Given the description of an element on the screen output the (x, y) to click on. 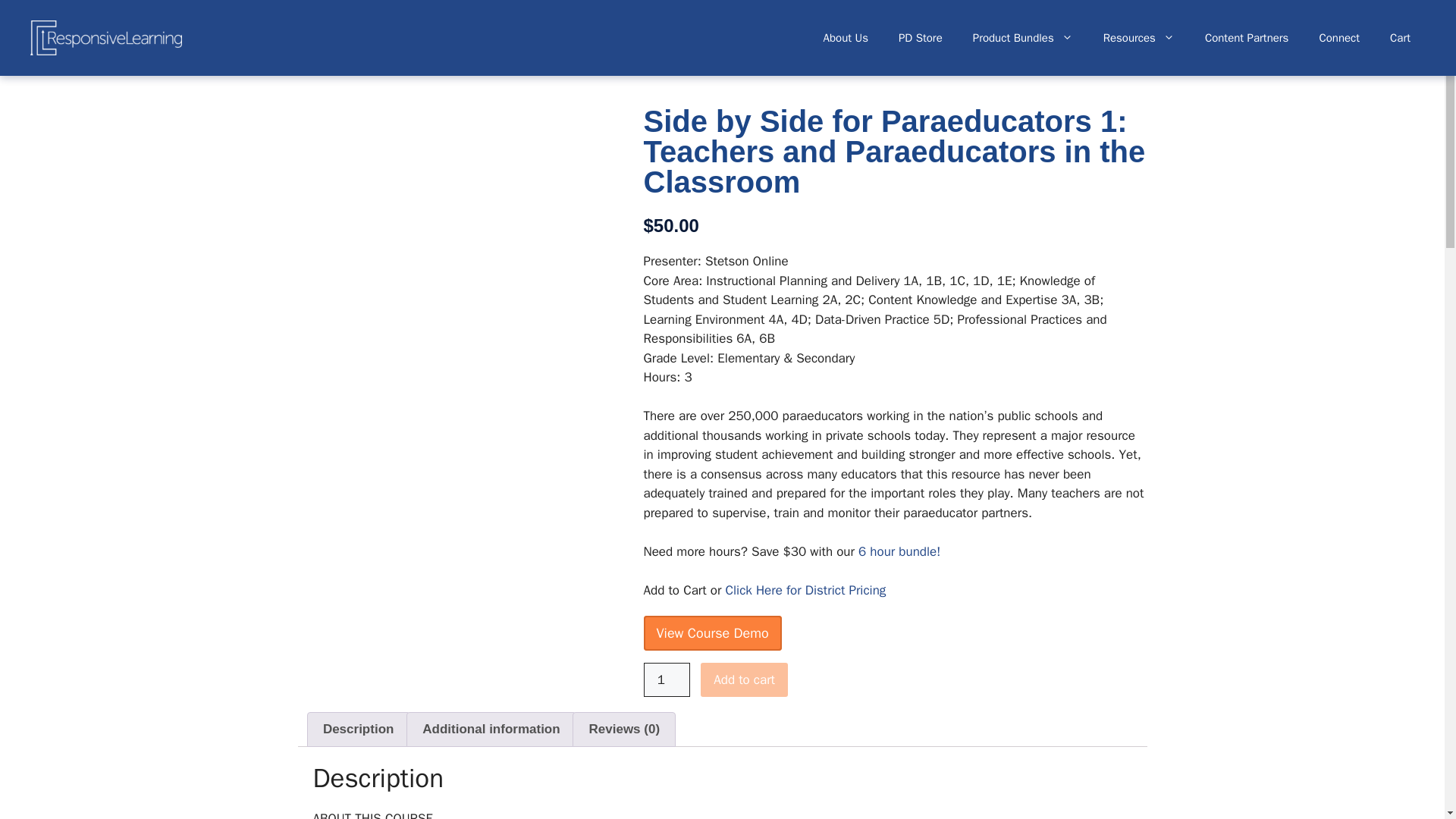
View Course Demo (711, 632)
PD Store (920, 37)
1 (666, 679)
Cart (1399, 37)
Product Bundles (1022, 37)
Content Partners (1246, 37)
About Us (845, 37)
Description (358, 729)
Click Here for District Pricing (805, 590)
Additional information (491, 729)
